Given the description of an element on the screen output the (x, y) to click on. 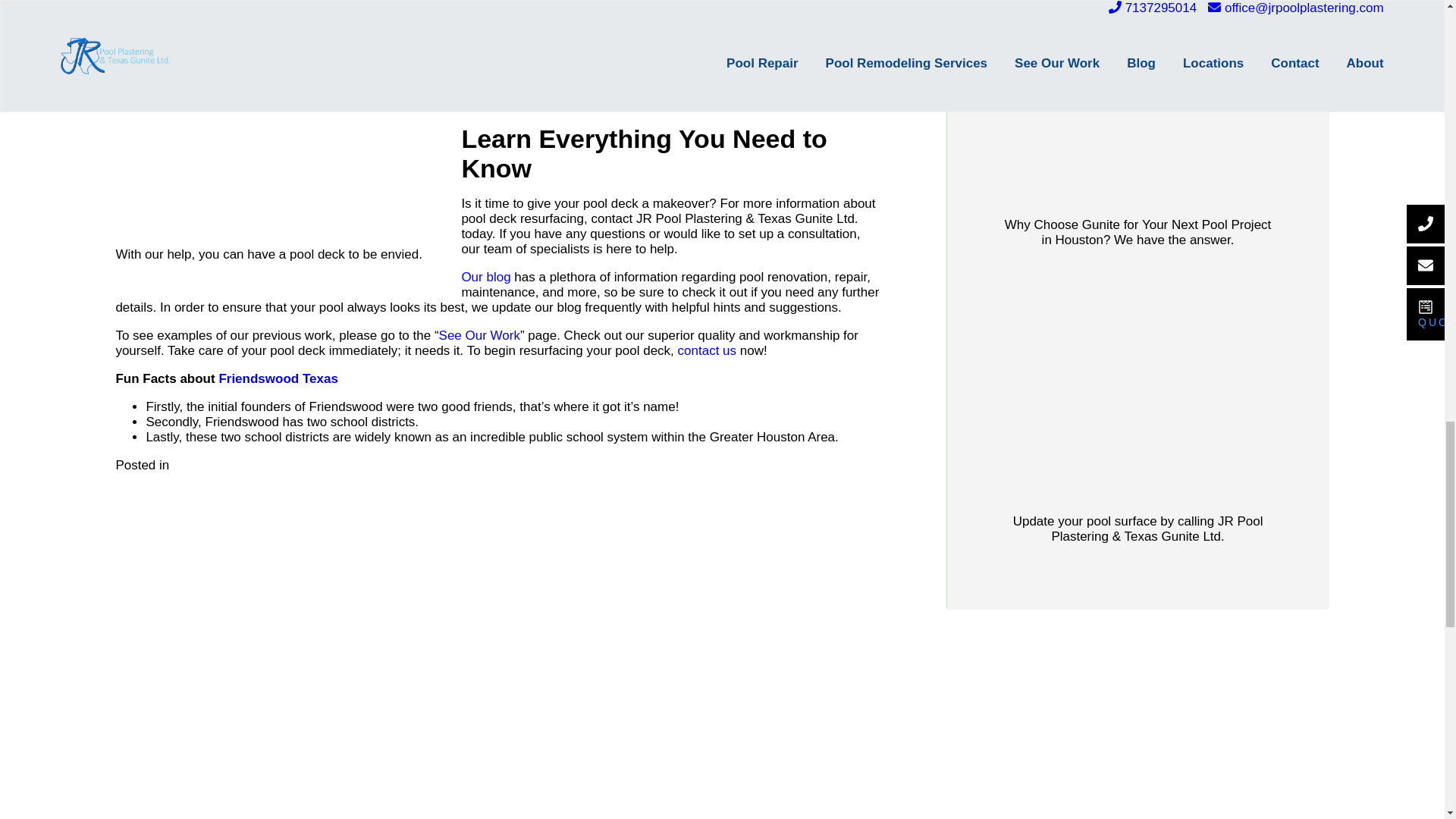
Our blog (486, 277)
tile coping (515, 103)
